Given the description of an element on the screen output the (x, y) to click on. 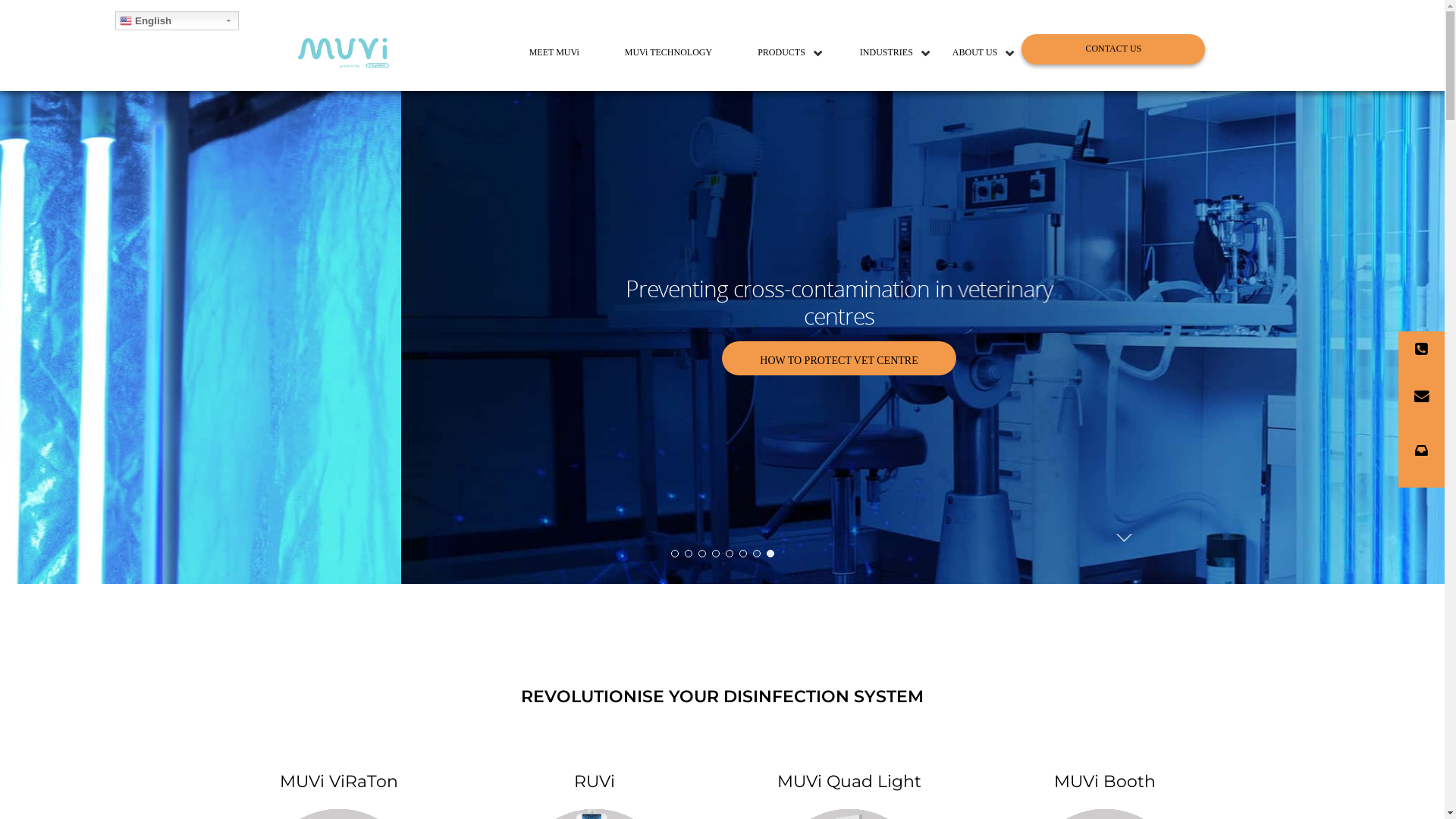
MUVi TECHNOLOGY Element type: text (668, 52)
MEET MUVi Element type: text (554, 52)
GET INFO ON MUVI BOOTH Element type: text (437, 358)
CONTACT US Element type: text (1112, 49)
INDUSTRIES Element type: text (886, 52)
ABOUT US Element type: text (974, 52)
English Element type: text (176, 20)
PRODUCTS Element type: text (775, 52)
